Given the description of an element on the screen output the (x, y) to click on. 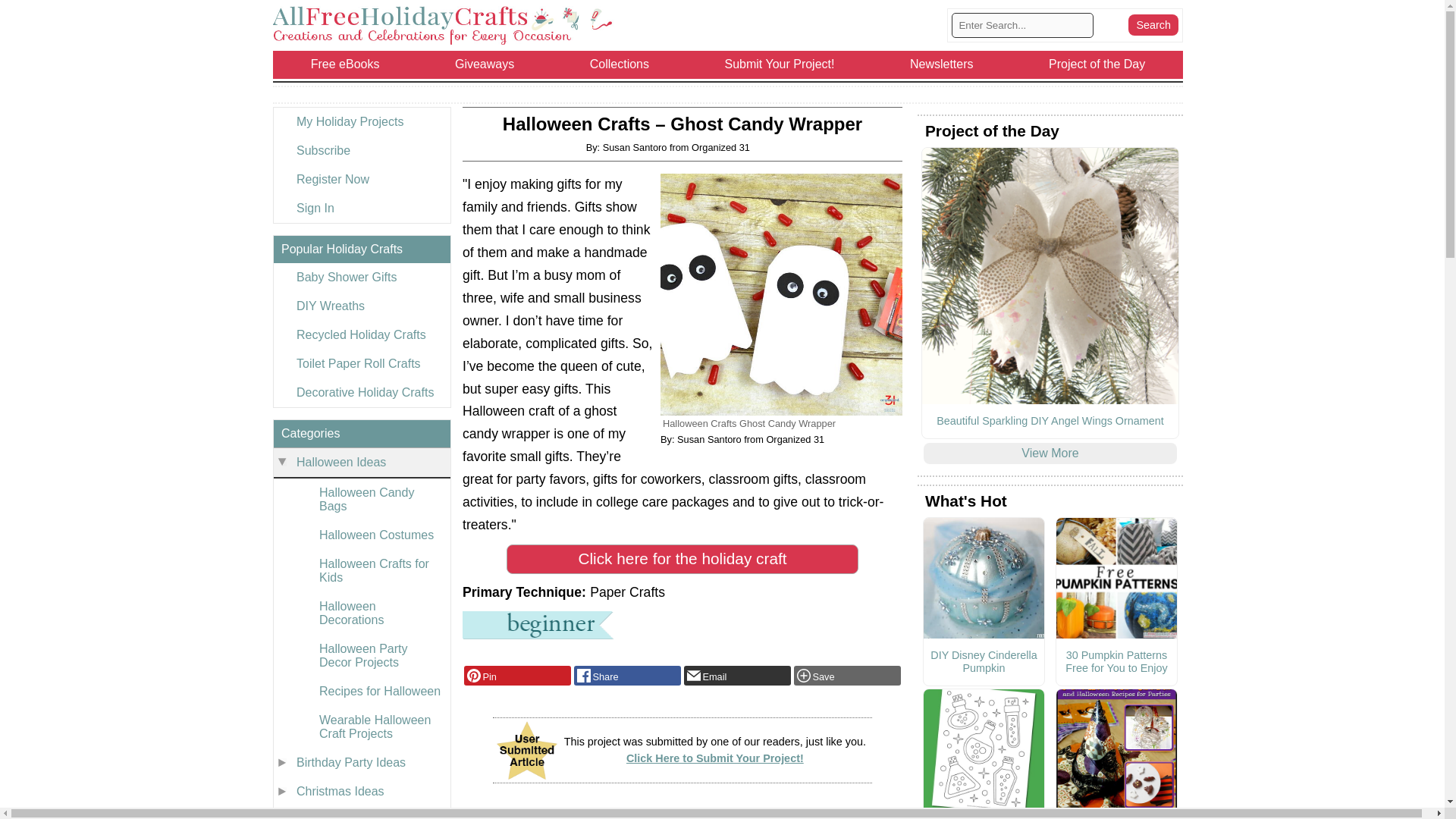
Sign In (361, 208)
My Holiday Projects (361, 121)
Email (737, 675)
Subscribe (361, 150)
Halloween Crafts  Ghost Candy Wrapper (781, 294)
Register Now (361, 179)
Facebook (627, 675)
Search (1152, 25)
Add (847, 675)
